Given the description of an element on the screen output the (x, y) to click on. 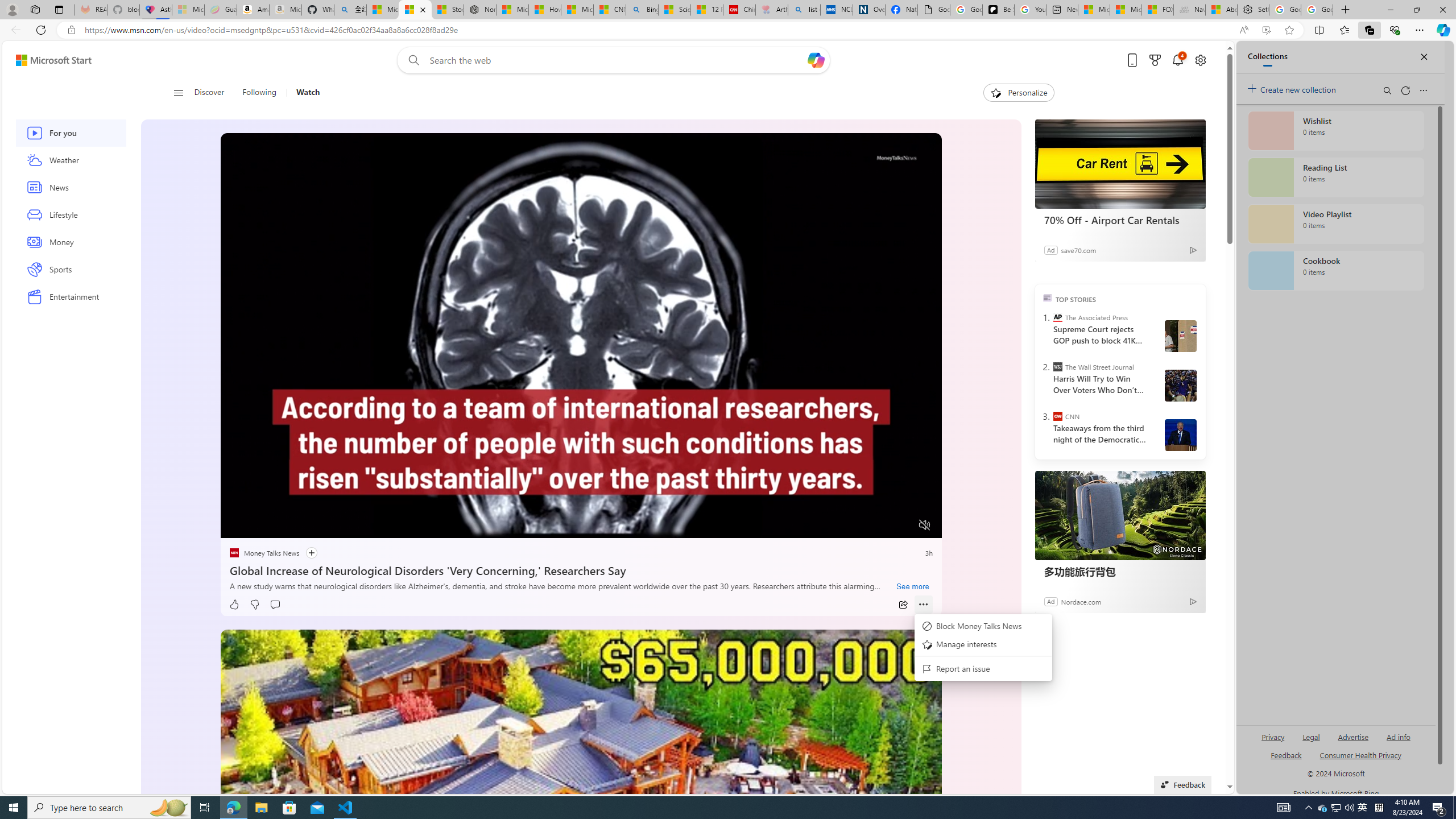
Unmute (924, 524)
CNN - MSN (609, 9)
